Given the description of an element on the screen output the (x, y) to click on. 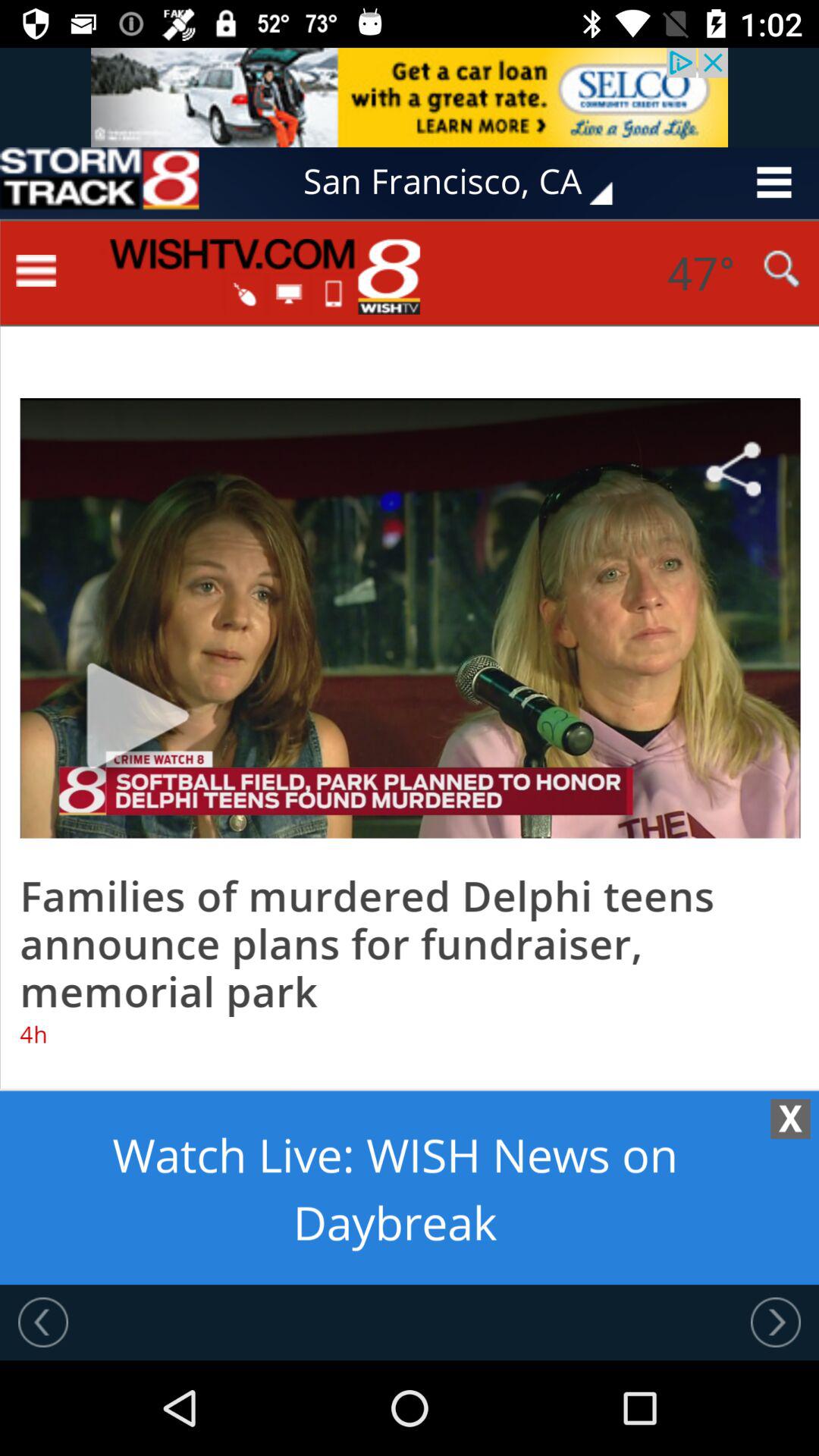
go next (775, 1322)
